Given the description of an element on the screen output the (x, y) to click on. 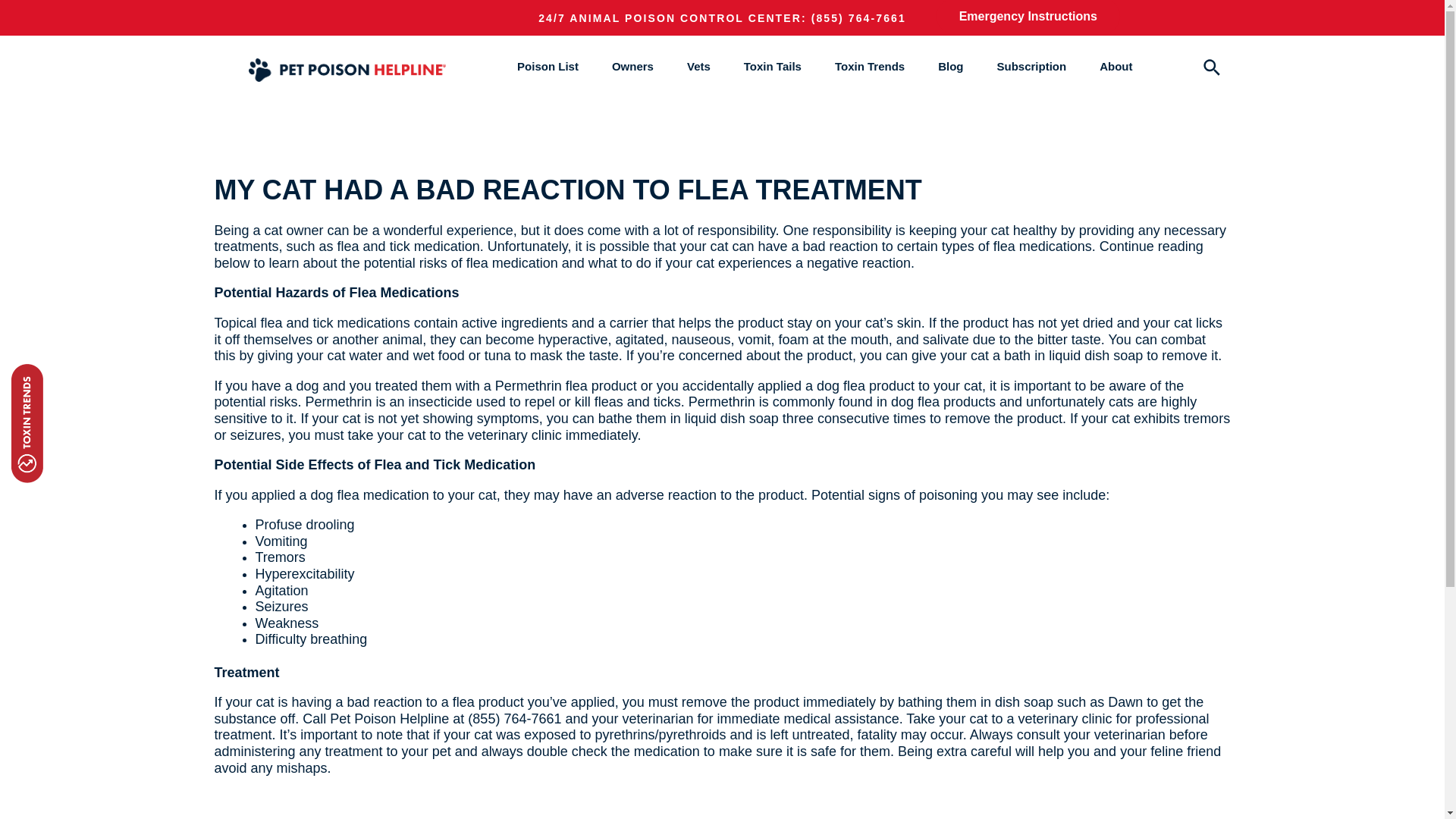
About (1115, 65)
Subscription (1030, 65)
Owners (632, 65)
Emergency Instructions (1027, 17)
Poison List (547, 65)
Toxin Tails (773, 65)
Blog (949, 65)
Vets (698, 65)
Toxin Trends (869, 65)
